Given the description of an element on the screen output the (x, y) to click on. 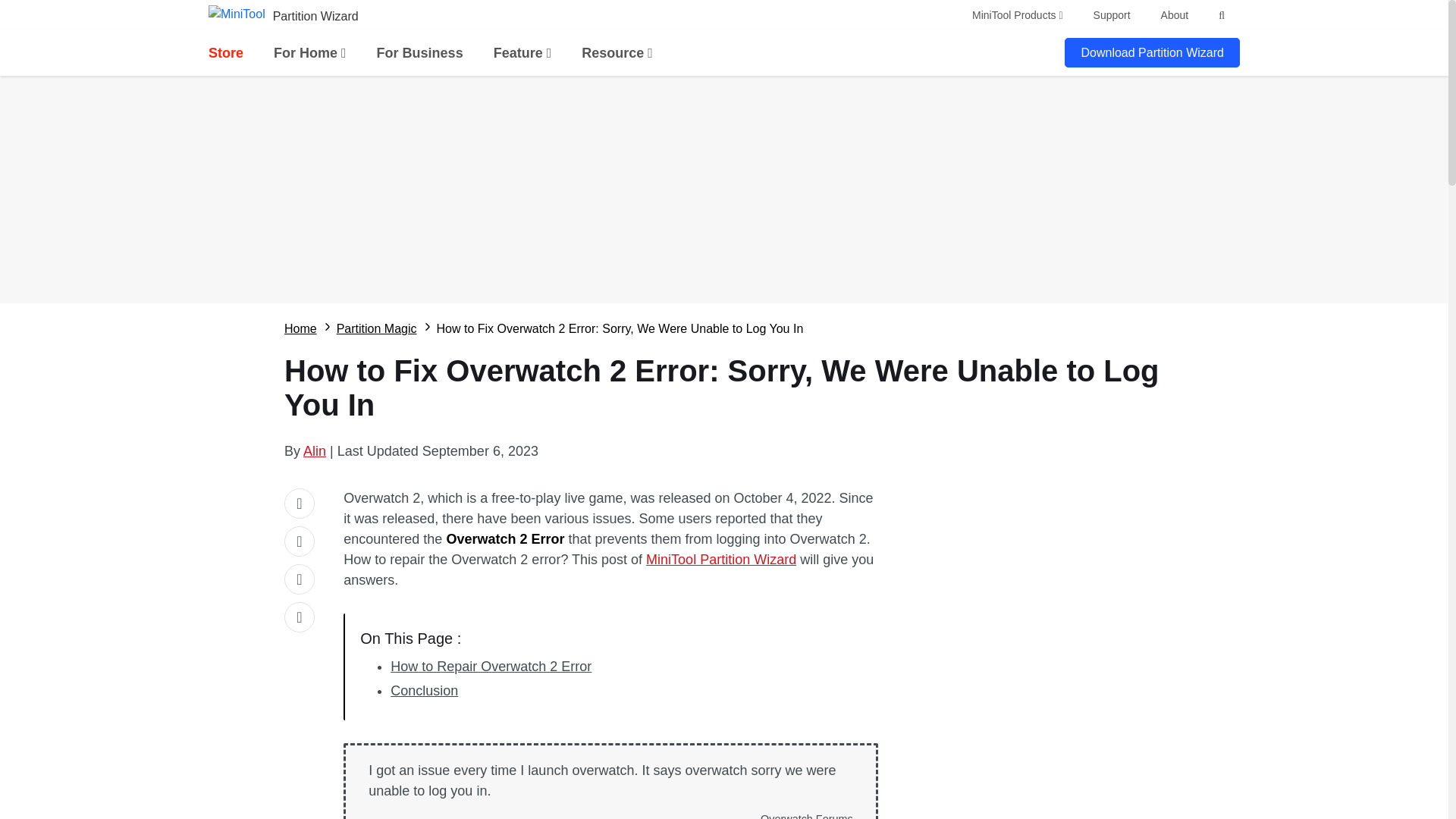
Partition Wizard (315, 15)
Resource (616, 52)
Download Partition Wizard (1152, 52)
Partition Magic (376, 328)
Home (300, 328)
Conclusion (424, 690)
MiniTool Partition Wizard (721, 559)
For Business (420, 52)
How to Repair Overwatch 2 Error (490, 666)
Store (225, 52)
